Given the description of an element on the screen output the (x, y) to click on. 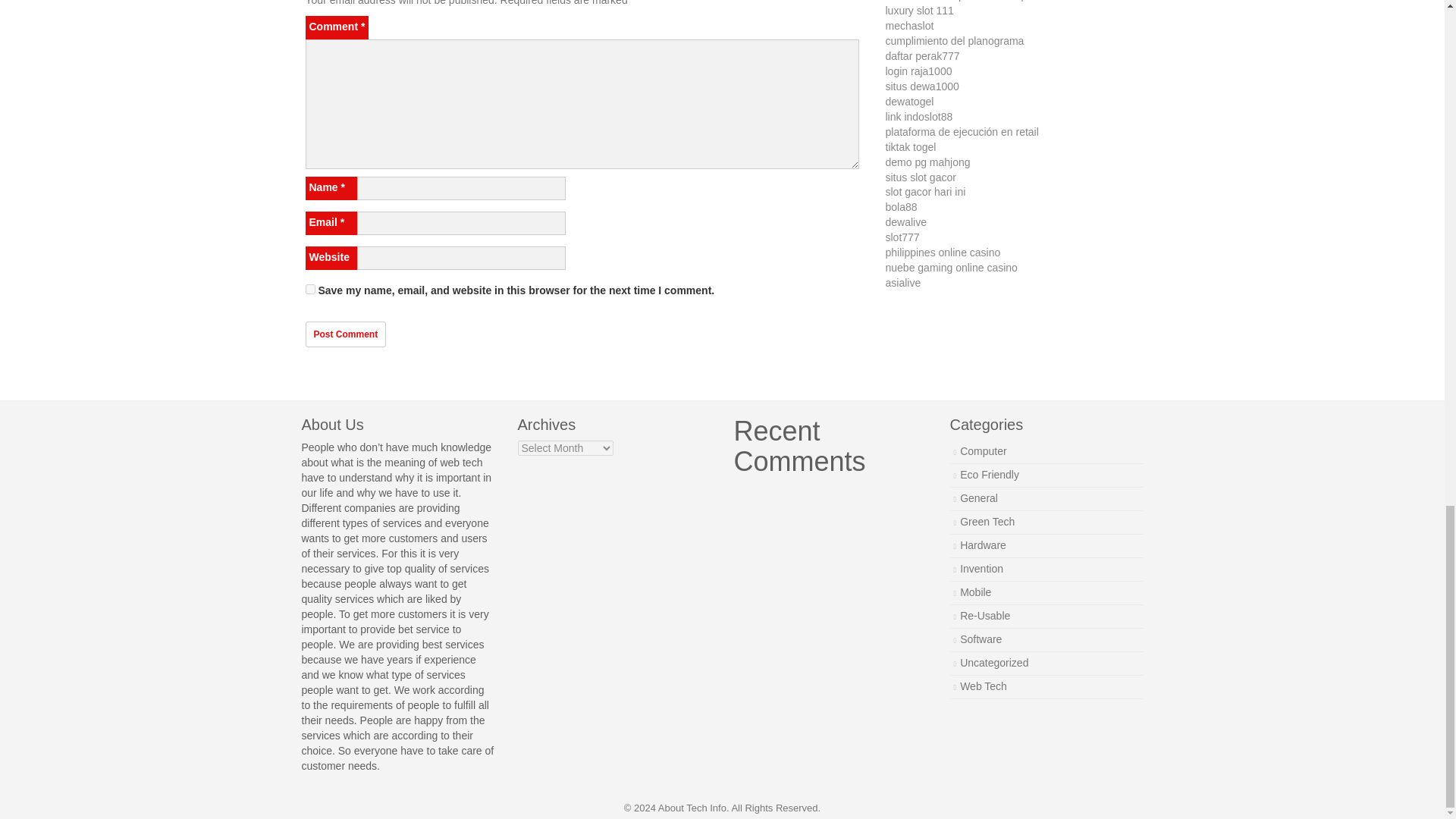
yes (309, 289)
Post Comment (344, 334)
Post Comment (344, 334)
